Given the description of an element on the screen output the (x, y) to click on. 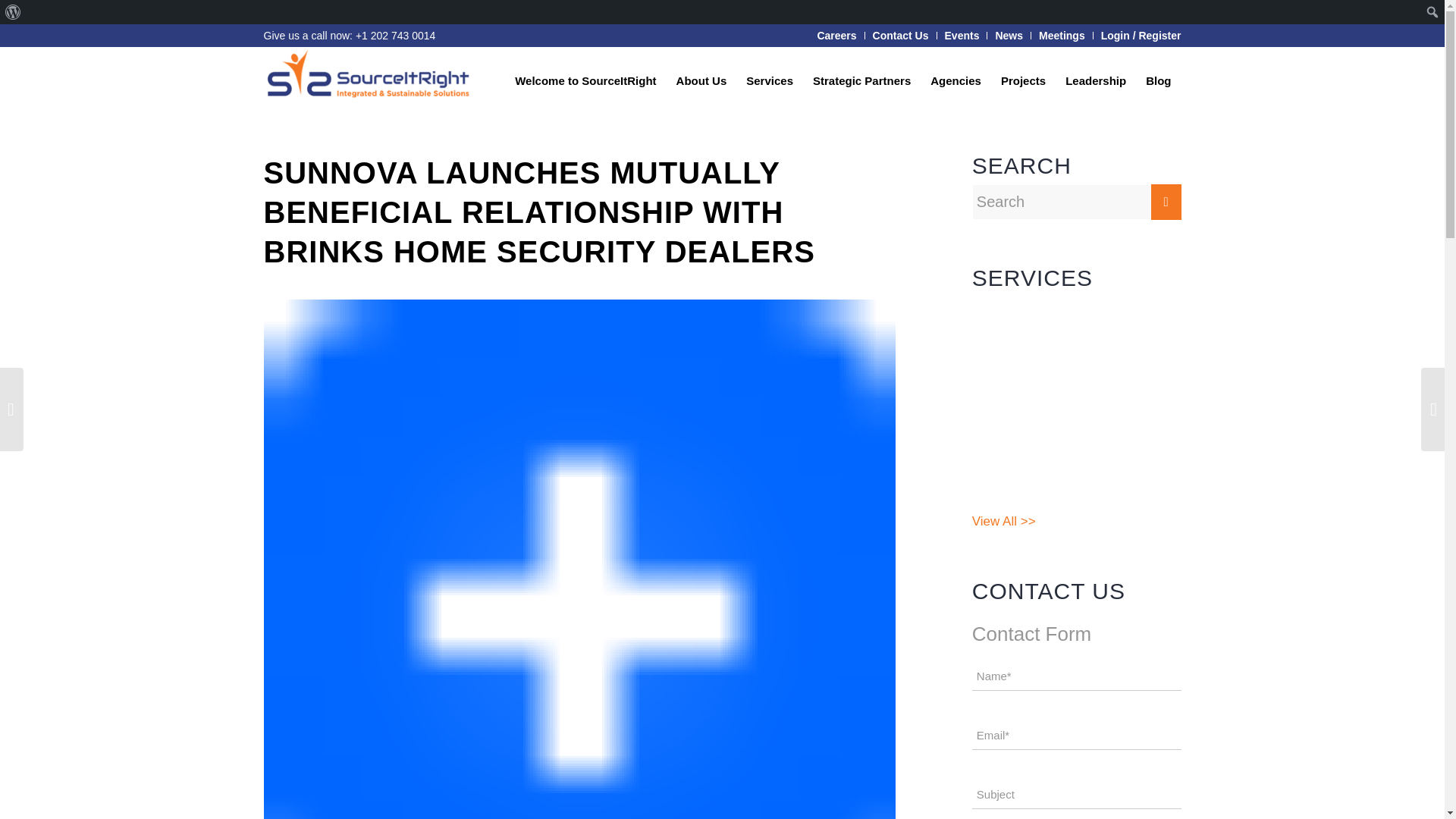
Careers (836, 35)
Contact Us (900, 35)
Search (15, 12)
Welcome to SourceItRight (585, 80)
Meetings (1061, 35)
About Us (701, 80)
Events (961, 35)
Services (769, 80)
